Given the description of an element on the screen output the (x, y) to click on. 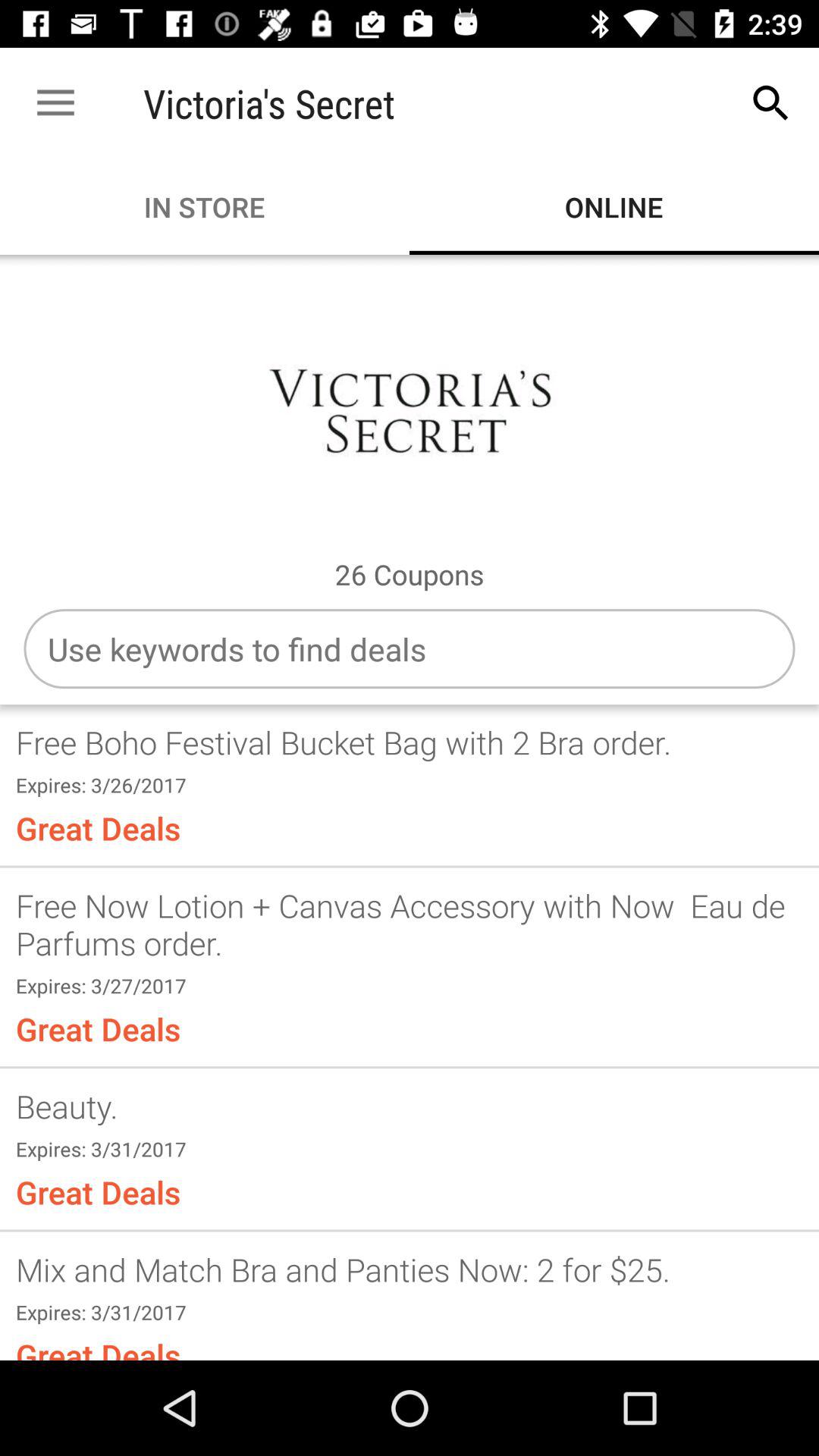
select item next to the victoria's secret  item (55, 103)
